Given the description of an element on the screen output the (x, y) to click on. 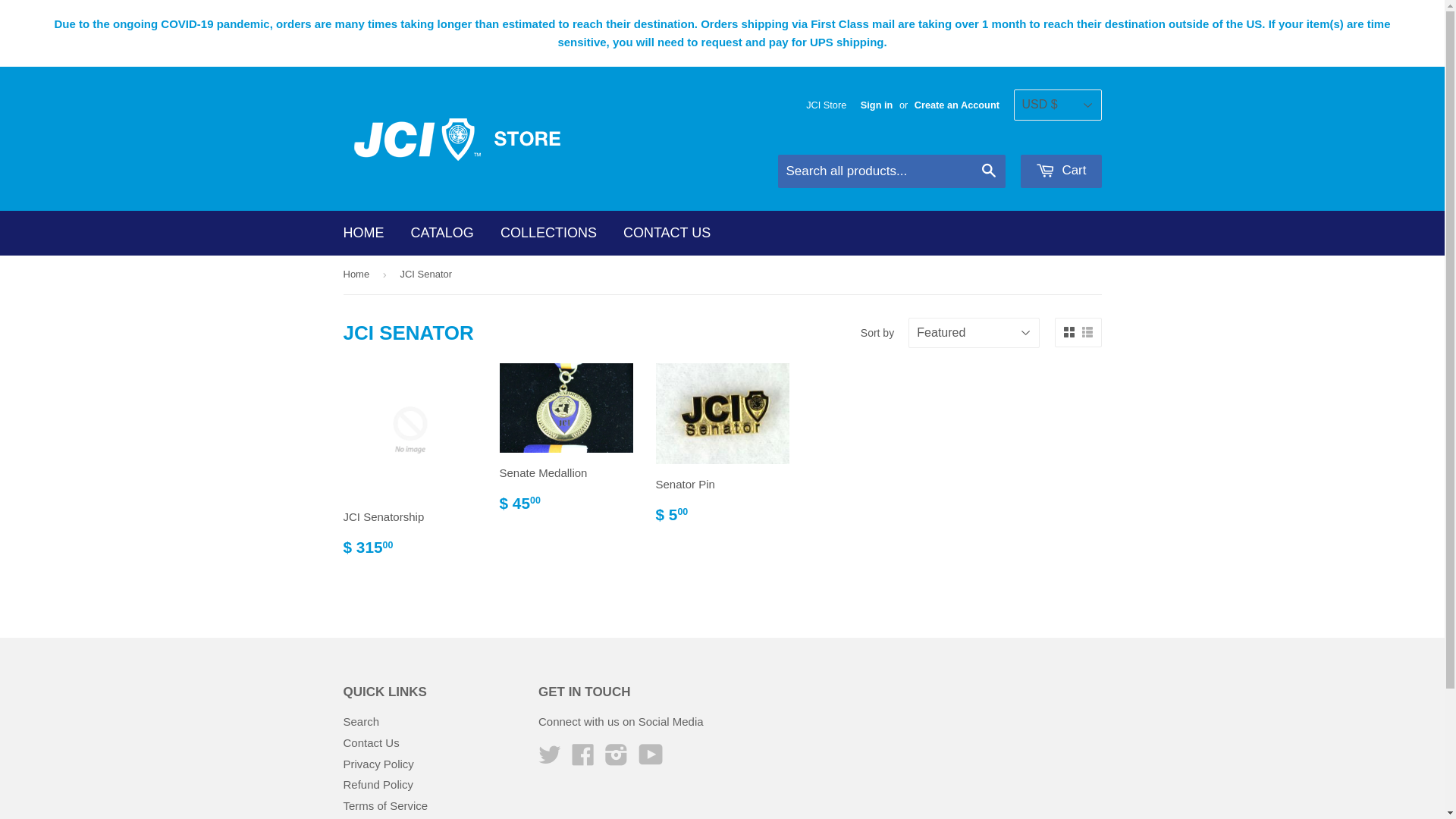
YouTube Element type: text (650, 759)
CONTACT US Element type: text (666, 232)
Home Element type: text (358, 274)
Instagram Element type: text (616, 759)
JCI Senatorship
$ 31500 Element type: text (409, 466)
Sign in Element type: text (876, 104)
List view Element type: hover (1086, 331)
Search Element type: text (360, 721)
Privacy Policy Element type: text (377, 763)
COLLECTIONS Element type: text (548, 232)
Create an Account Element type: text (956, 104)
Grid view Element type: hover (1068, 331)
Senate Medallion
$ 4500 Element type: text (565, 443)
Senator Pin
$ 500 Element type: text (721, 449)
Contact Us Element type: text (370, 742)
Twitter Element type: text (549, 759)
Search Element type: text (988, 172)
CATALOG Element type: text (442, 232)
Cart Element type: text (1060, 171)
HOME Element type: text (363, 232)
Refund Policy Element type: text (377, 784)
Facebook Element type: text (582, 759)
Terms of Service Element type: text (384, 805)
